Given the description of an element on the screen output the (x, y) to click on. 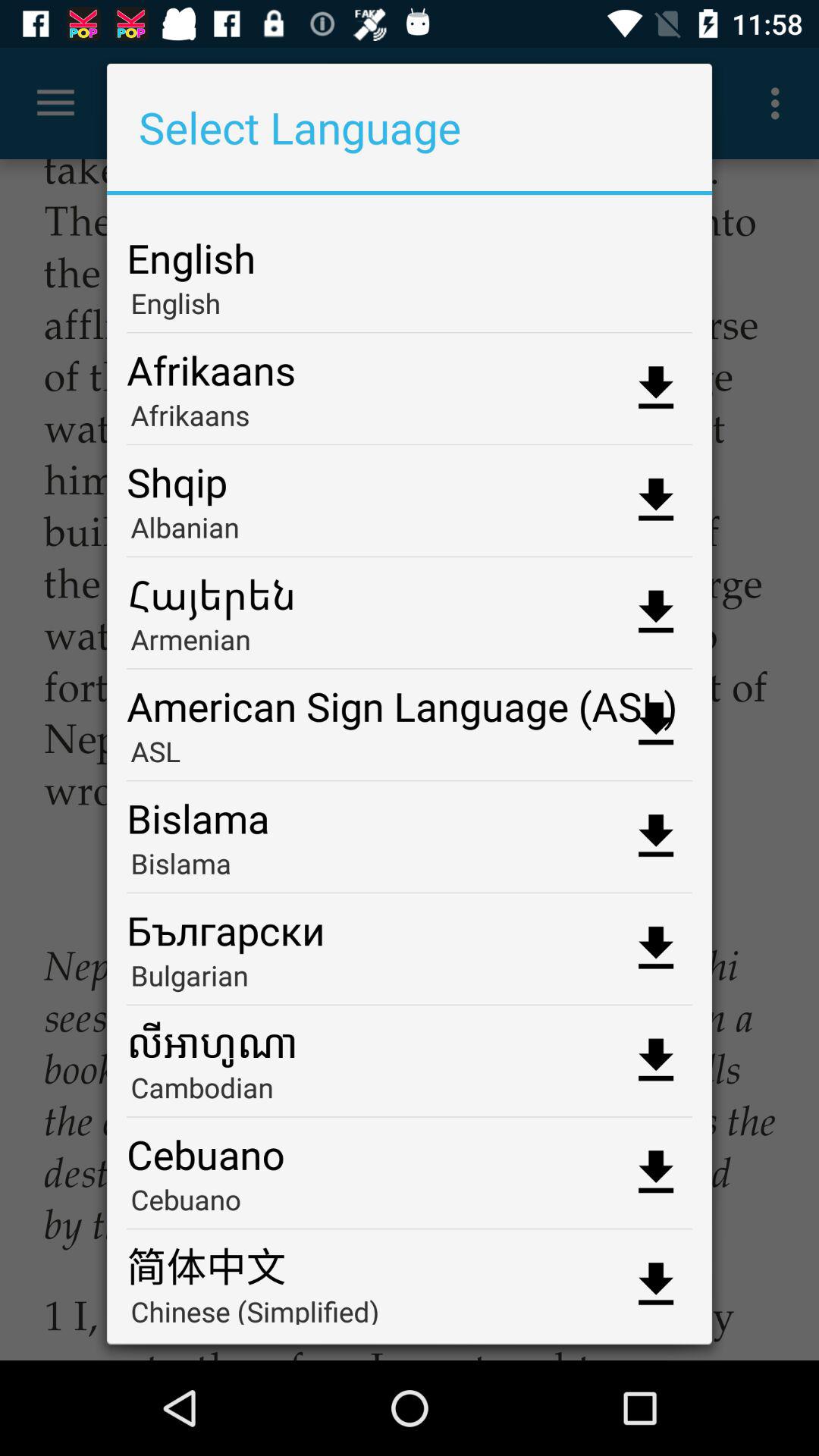
launch item above the albanian icon (409, 476)
